Given the description of an element on the screen output the (x, y) to click on. 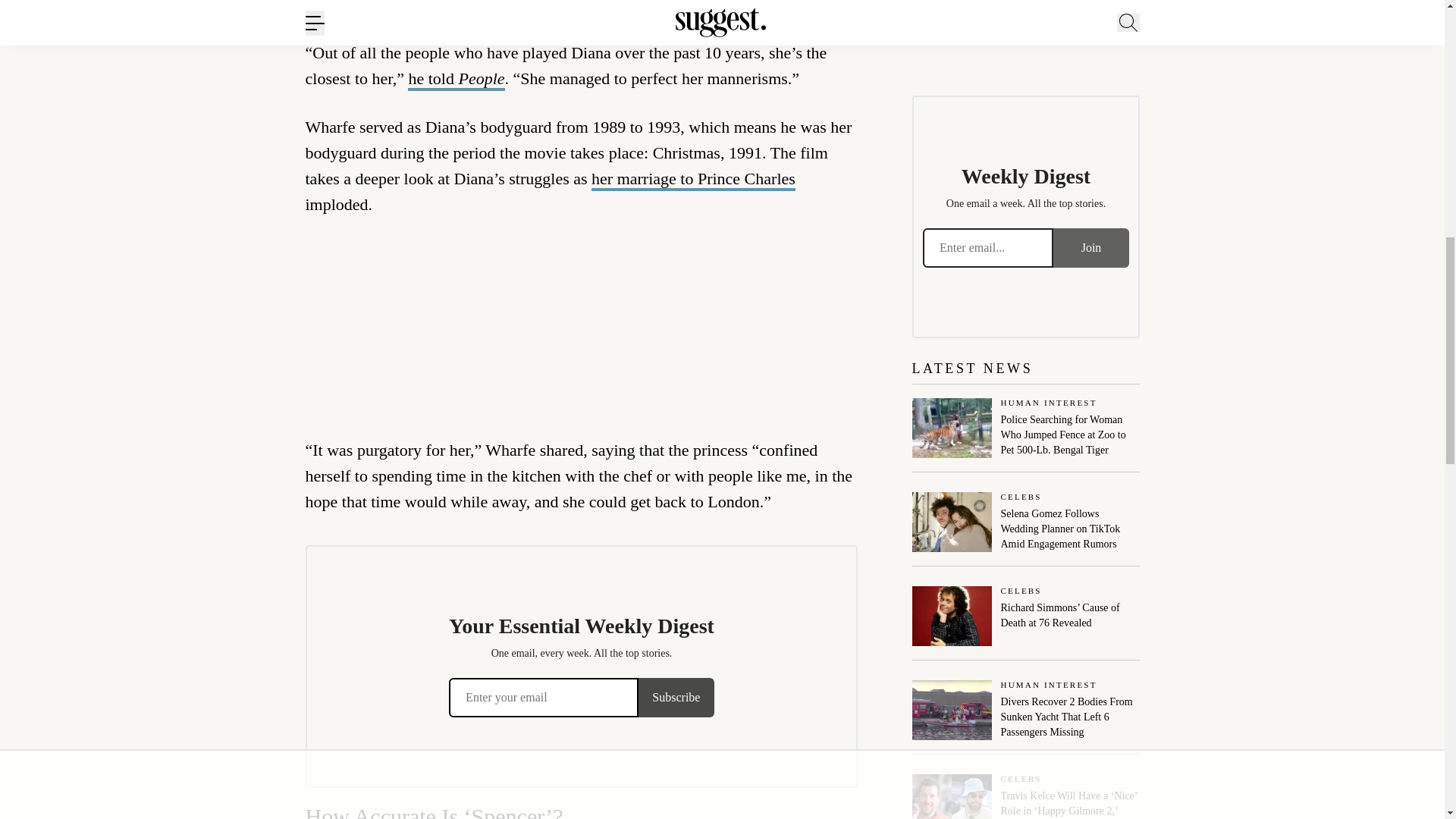
her marriage to Prince Charles (692, 179)
he told People (455, 78)
Human Interest (1070, 403)
Celebs (1070, 497)
